Given the description of an element on the screen output the (x, y) to click on. 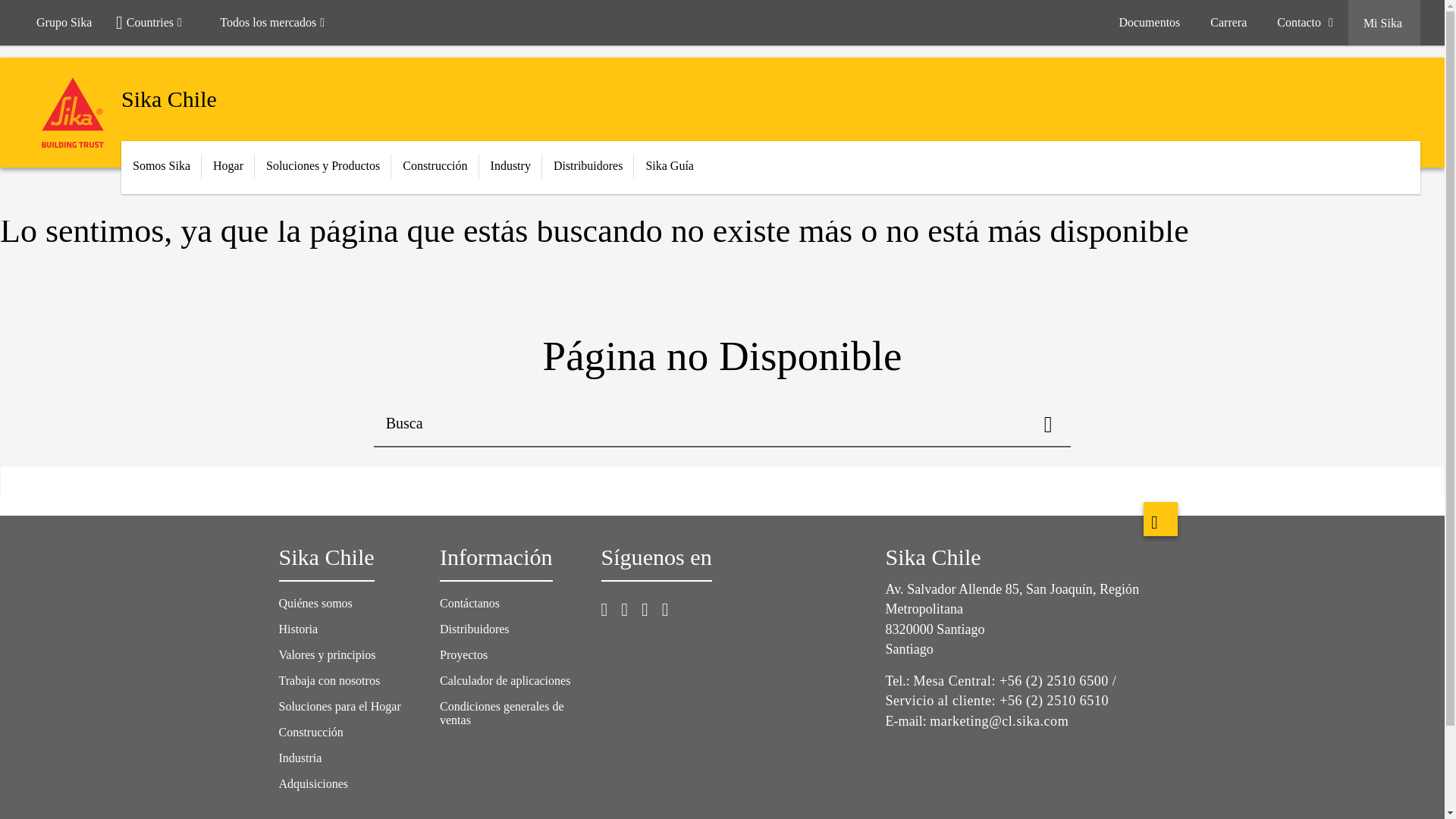
Contacto (1305, 22)
Sika Logo (72, 112)
Countries (155, 22)
Mi Sika  (1384, 22)
Todos los mercados (279, 22)
Documentos (1149, 22)
Carrera (1228, 22)
Grupo Sika (63, 22)
